Given the description of an element on the screen output the (x, y) to click on. 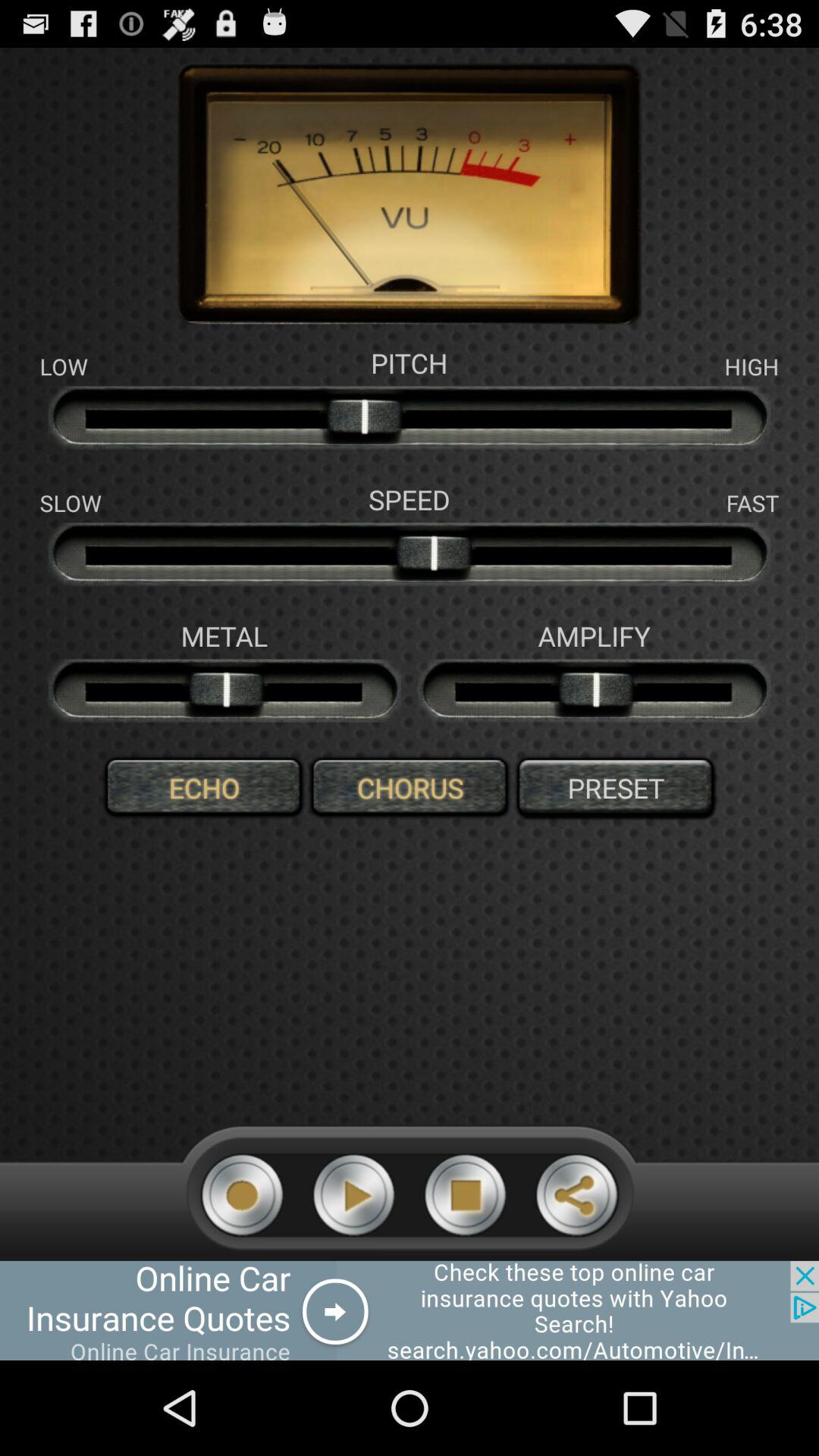
toggle autoplay option (353, 1195)
